Given the description of an element on the screen output the (x, y) to click on. 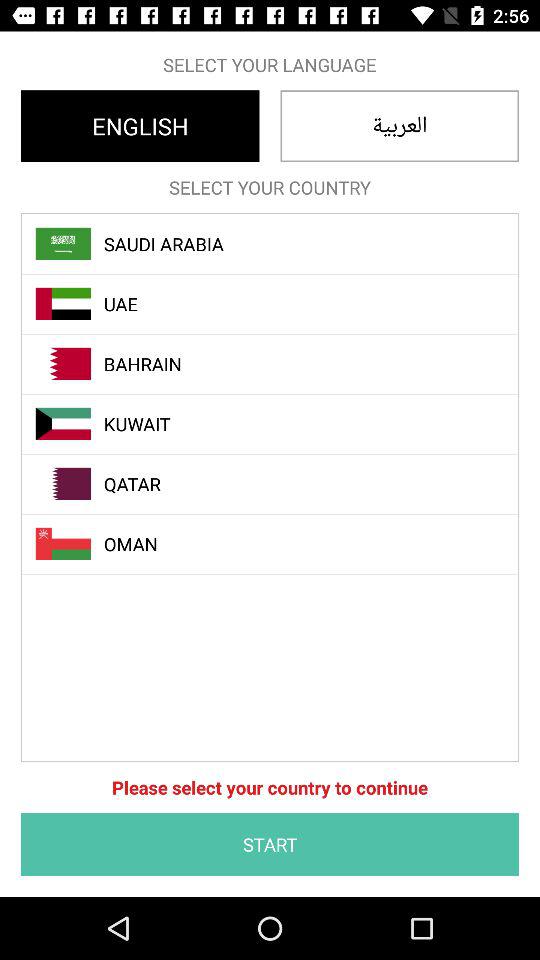
select item above the bahrain item (281, 303)
